Given the description of an element on the screen output the (x, y) to click on. 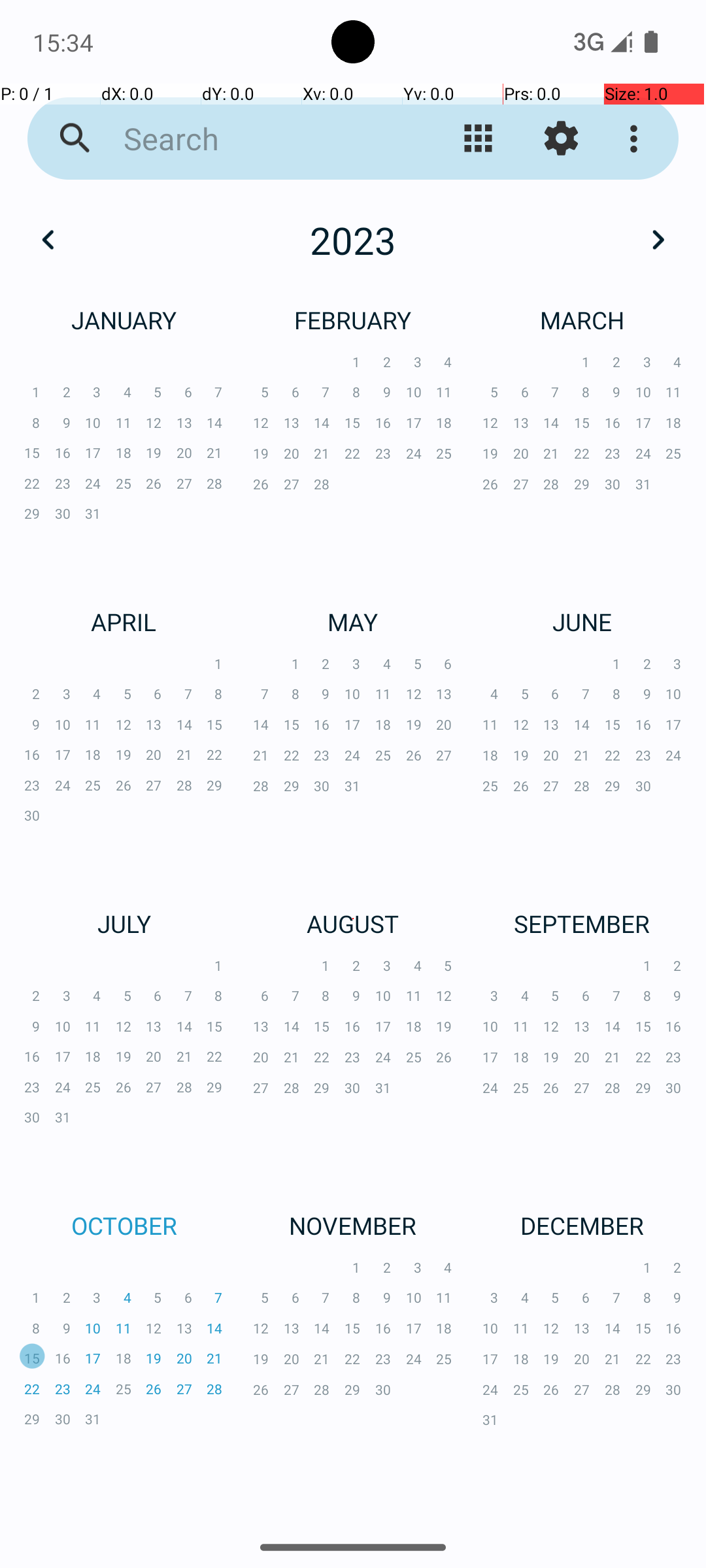
JANUARY Element type: android.widget.TextView (123, 319)
FEBRUARY Element type: android.widget.TextView (352, 319)
MARCH Element type: android.widget.TextView (582, 319)
APRIL Element type: android.widget.TextView (123, 621)
MAY Element type: android.widget.TextView (352, 621)
JUNE Element type: android.widget.TextView (582, 621)
JULY Element type: android.widget.TextView (123, 923)
AUGUST Element type: android.widget.TextView (352, 923)
SEPTEMBER Element type: android.widget.TextView (582, 923)
OCTOBER Element type: android.widget.TextView (123, 1224)
NOVEMBER Element type: android.widget.TextView (352, 1224)
DECEMBER Element type: android.widget.TextView (582, 1224)
